Given the description of an element on the screen output the (x, y) to click on. 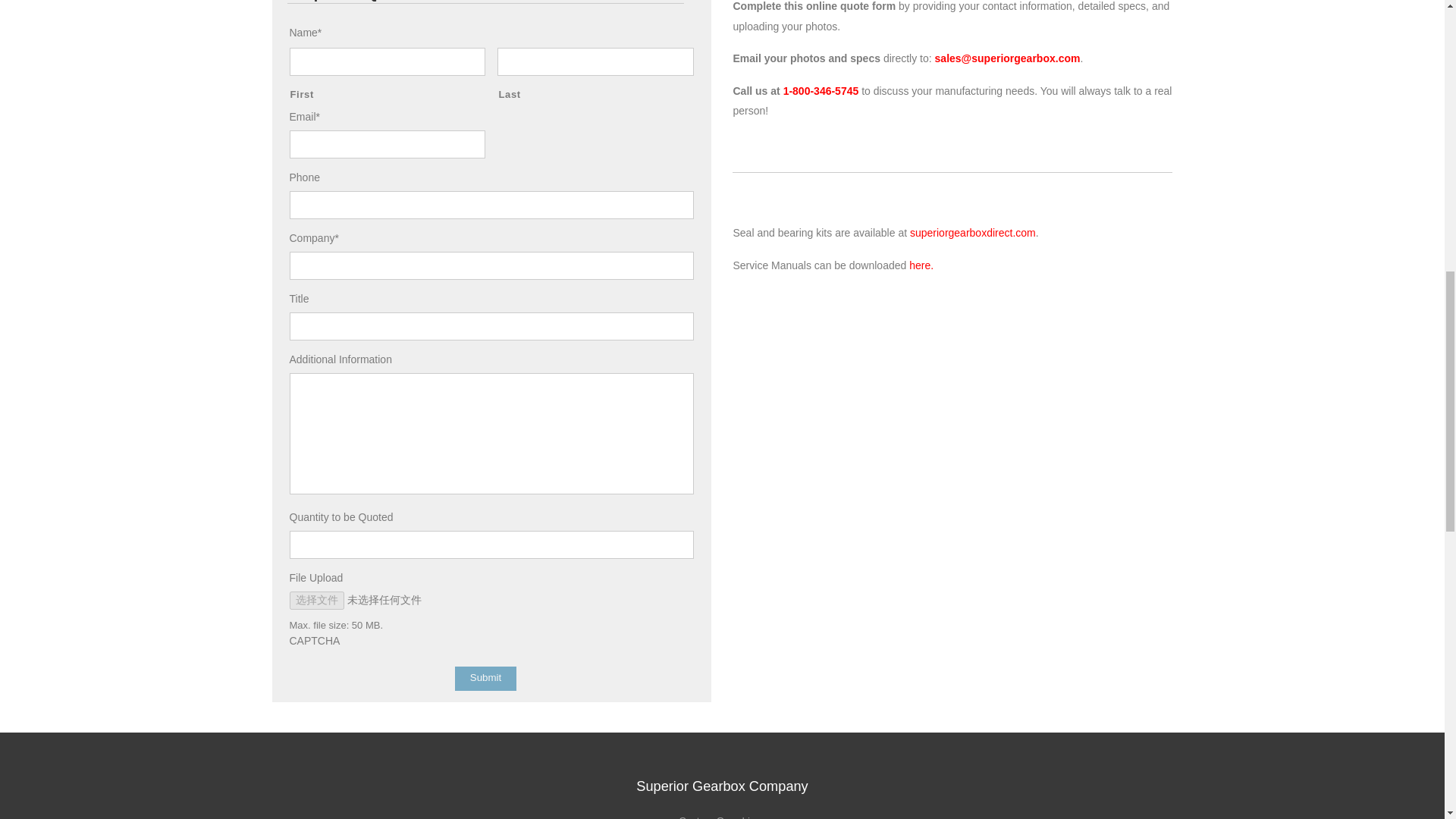
Submit (485, 678)
1-800-346-5745 (821, 91)
Submit (485, 678)
superiorgearboxdirect.com (972, 232)
